Given the description of an element on the screen output the (x, y) to click on. 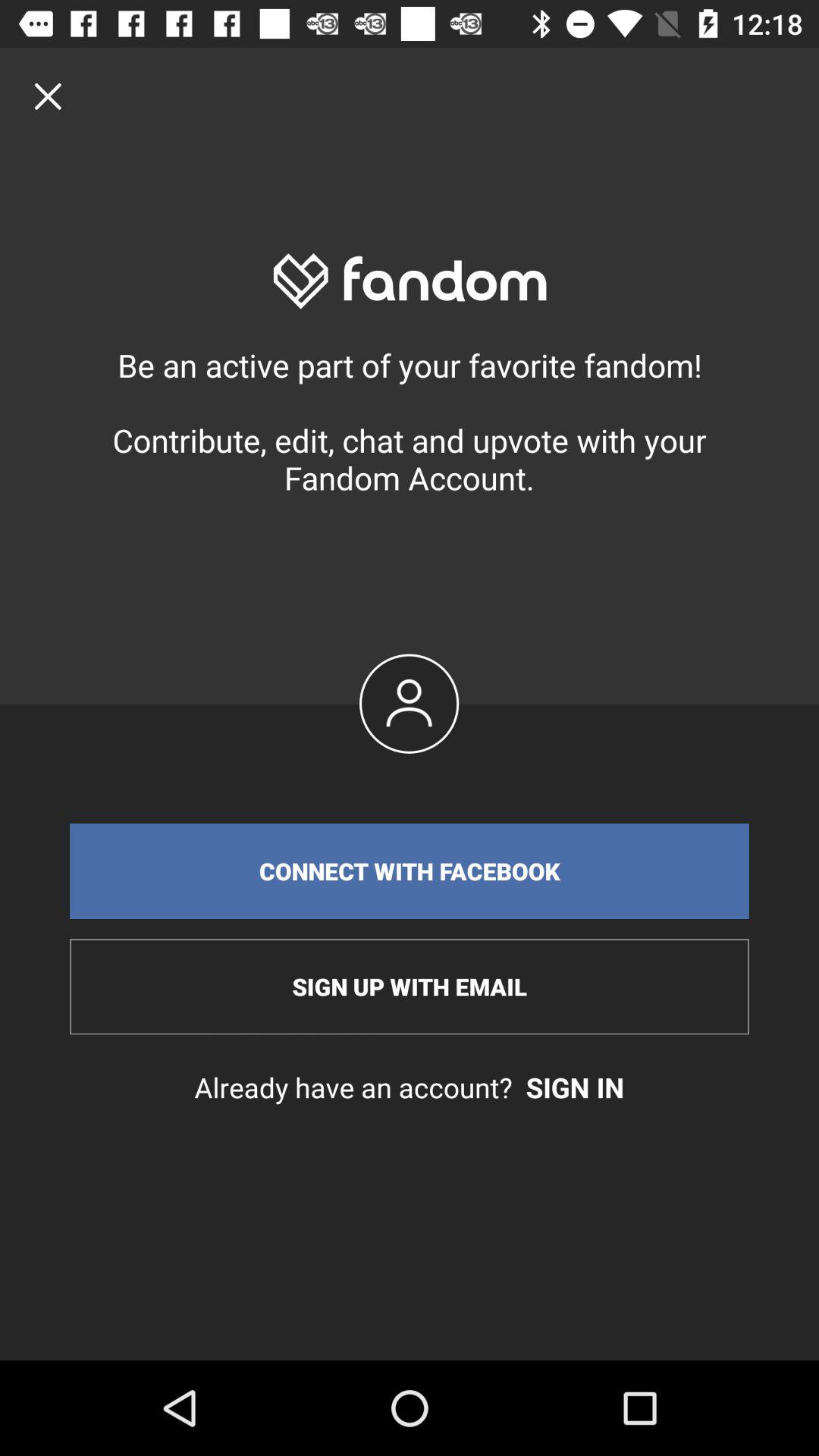
turn on the item above be an active (47, 95)
